Given the description of an element on the screen output the (x, y) to click on. 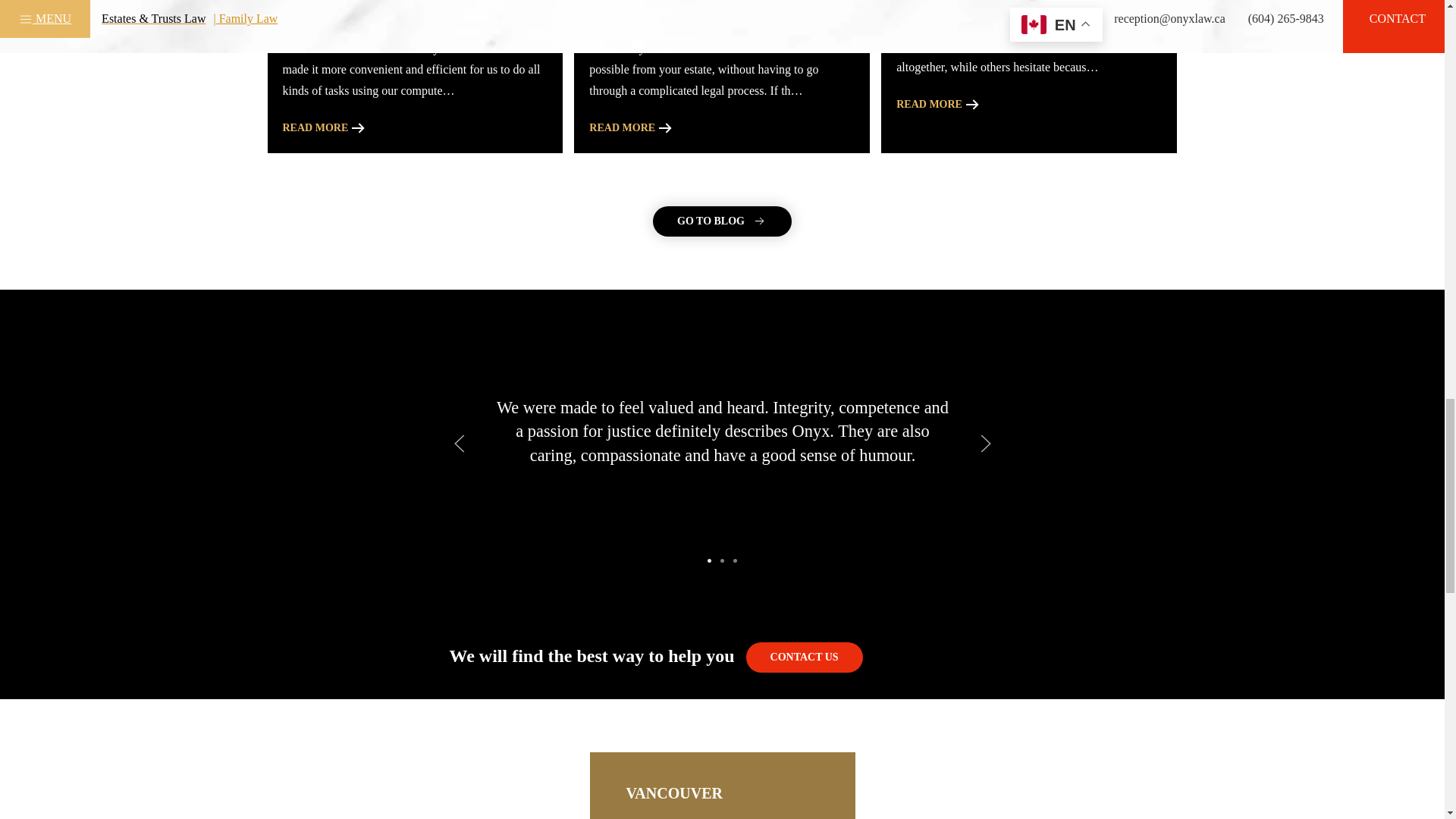
CONTACT US (804, 657)
READ MORE (632, 128)
READ MORE (939, 104)
GO TO BLOG (722, 221)
READ MORE (325, 128)
